Given the description of an element on the screen output the (x, y) to click on. 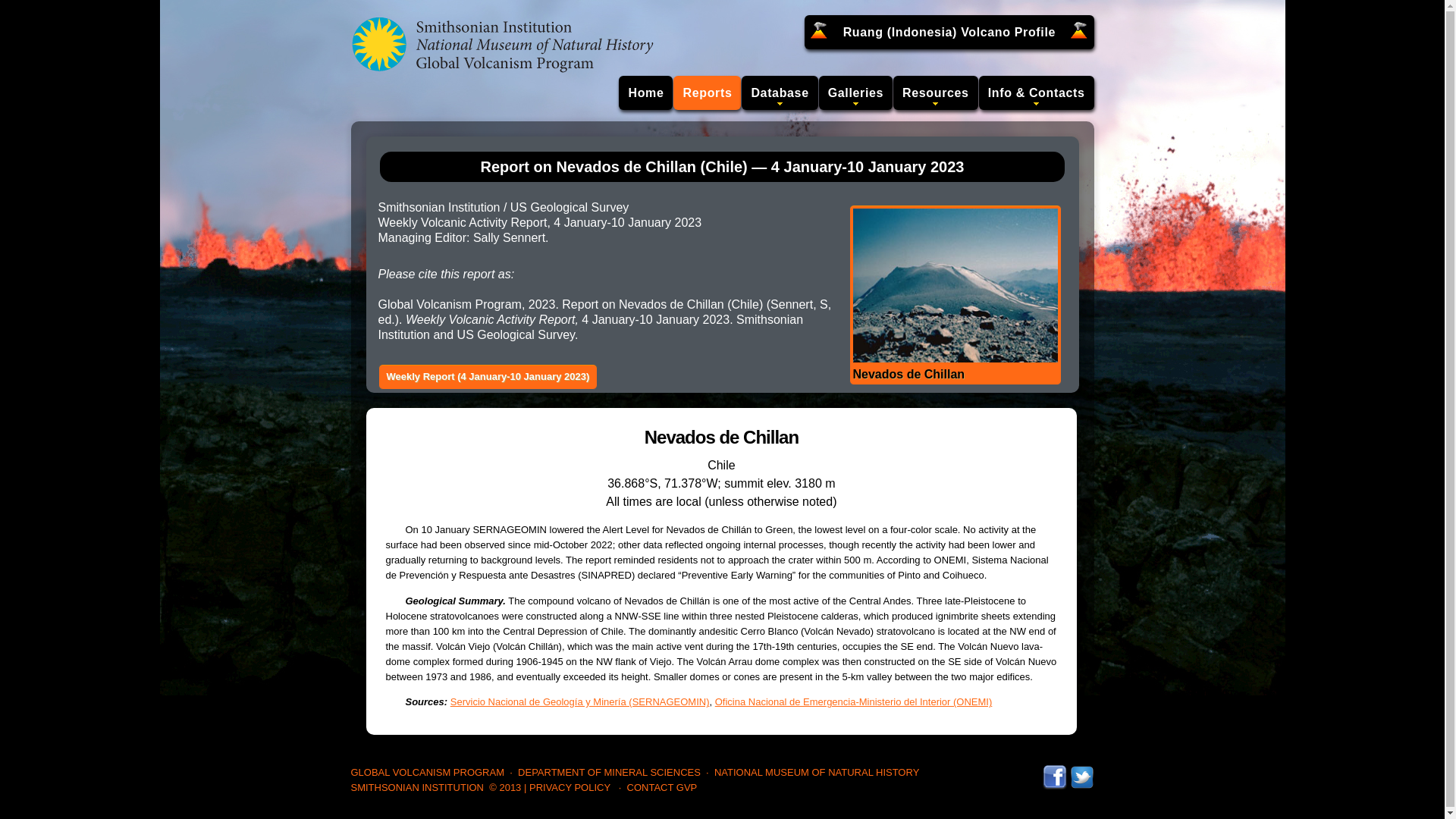
Nevados de Chillan (954, 294)
Link to Privacy Notice (569, 787)
Home (645, 92)
Twitter (1080, 772)
Facebook (1054, 772)
Galleries (855, 92)
Database (778, 92)
Link to Copyright Notice (505, 787)
Resources (935, 92)
Send email to GVP (662, 787)
Reports (706, 92)
